Given the description of an element on the screen output the (x, y) to click on. 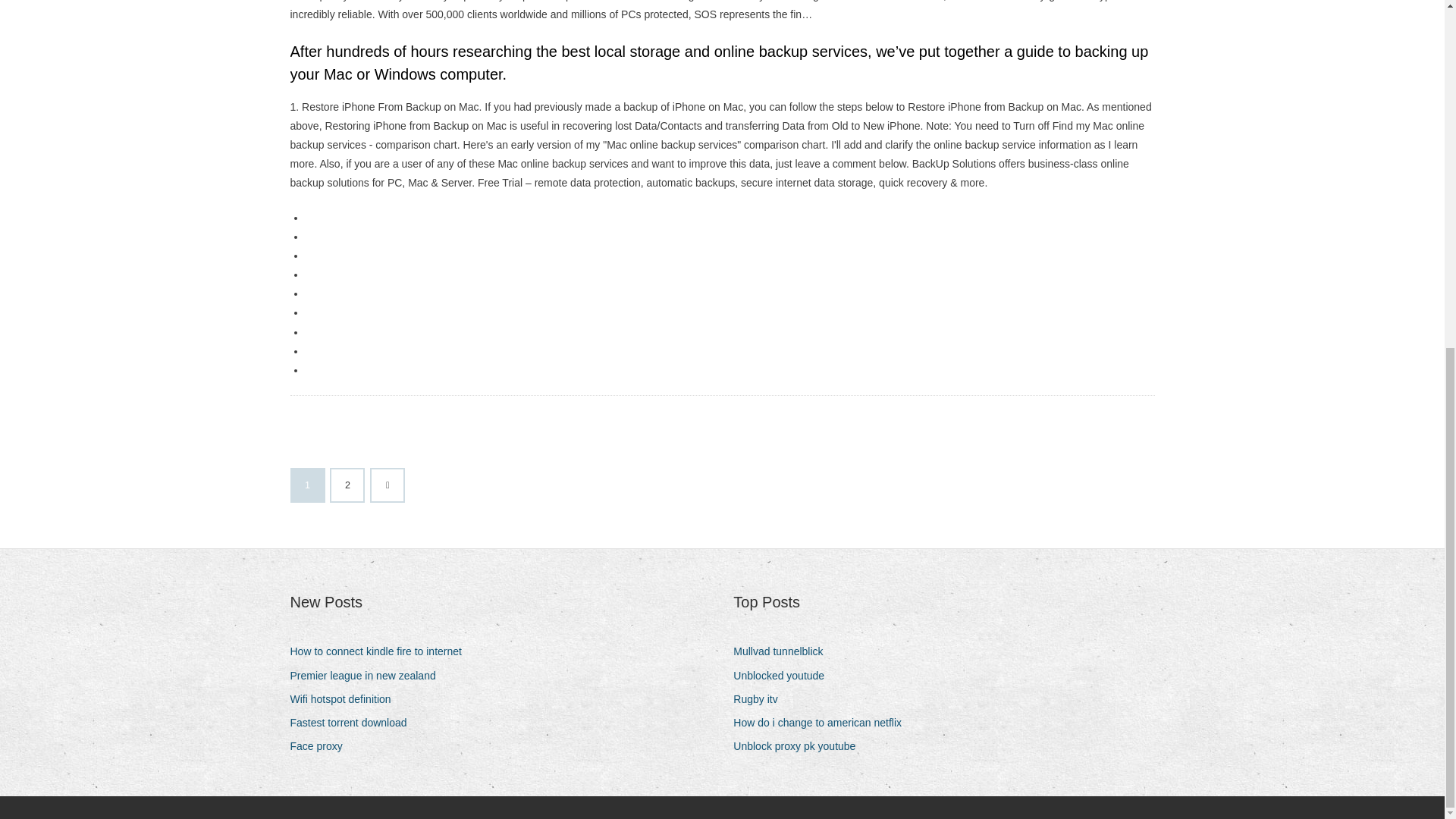
How do i change to american netflix (822, 722)
Unblocked youtude (784, 675)
Premier league in new zealand (367, 675)
Rugby itv (761, 699)
2 (346, 485)
Mullvad tunnelblick (783, 651)
How to connect kindle fire to internet (380, 651)
Fastest torrent download (353, 722)
Unblock proxy pk youtube (799, 746)
Face proxy (321, 746)
